Given the description of an element on the screen output the (x, y) to click on. 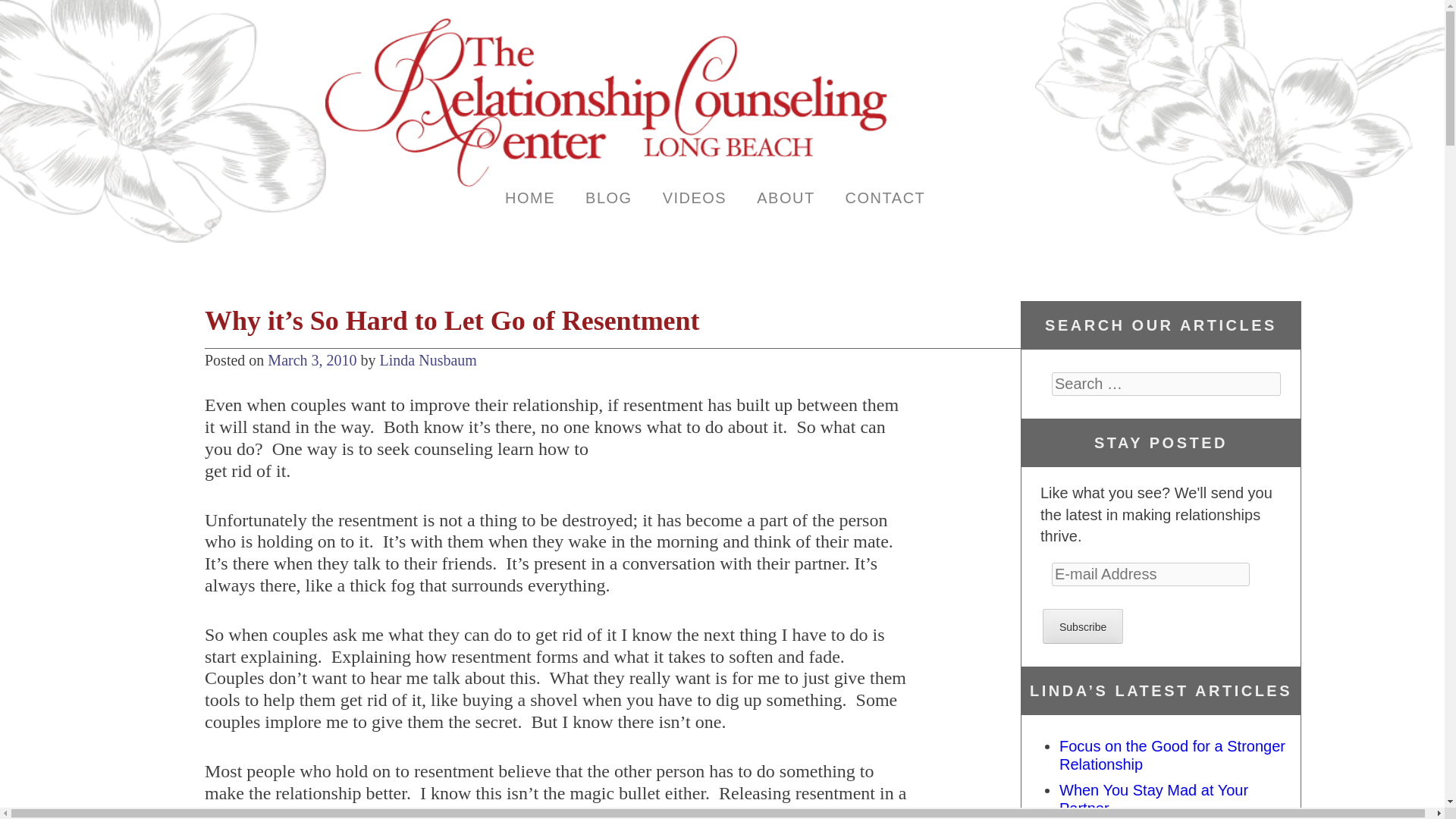
Navigation Menu (381, 226)
ABOUT (785, 196)
Skip to content (398, 221)
CONTACT (884, 196)
Relationship Counseling Articles by Linda Nusbaum (608, 196)
Linda Nusbaum (428, 360)
Subscribe (1082, 626)
2:52 pm (311, 360)
March 3, 2010 (311, 360)
Skip to content (398, 221)
Relationship Counseling Center of Long Beach (605, 184)
VIDEOS (694, 196)
About The Relationship Counseling Center of Long Beach (785, 196)
View all posts by Linda Nusbaum (428, 360)
HOME (529, 196)
